Given the description of an element on the screen output the (x, y) to click on. 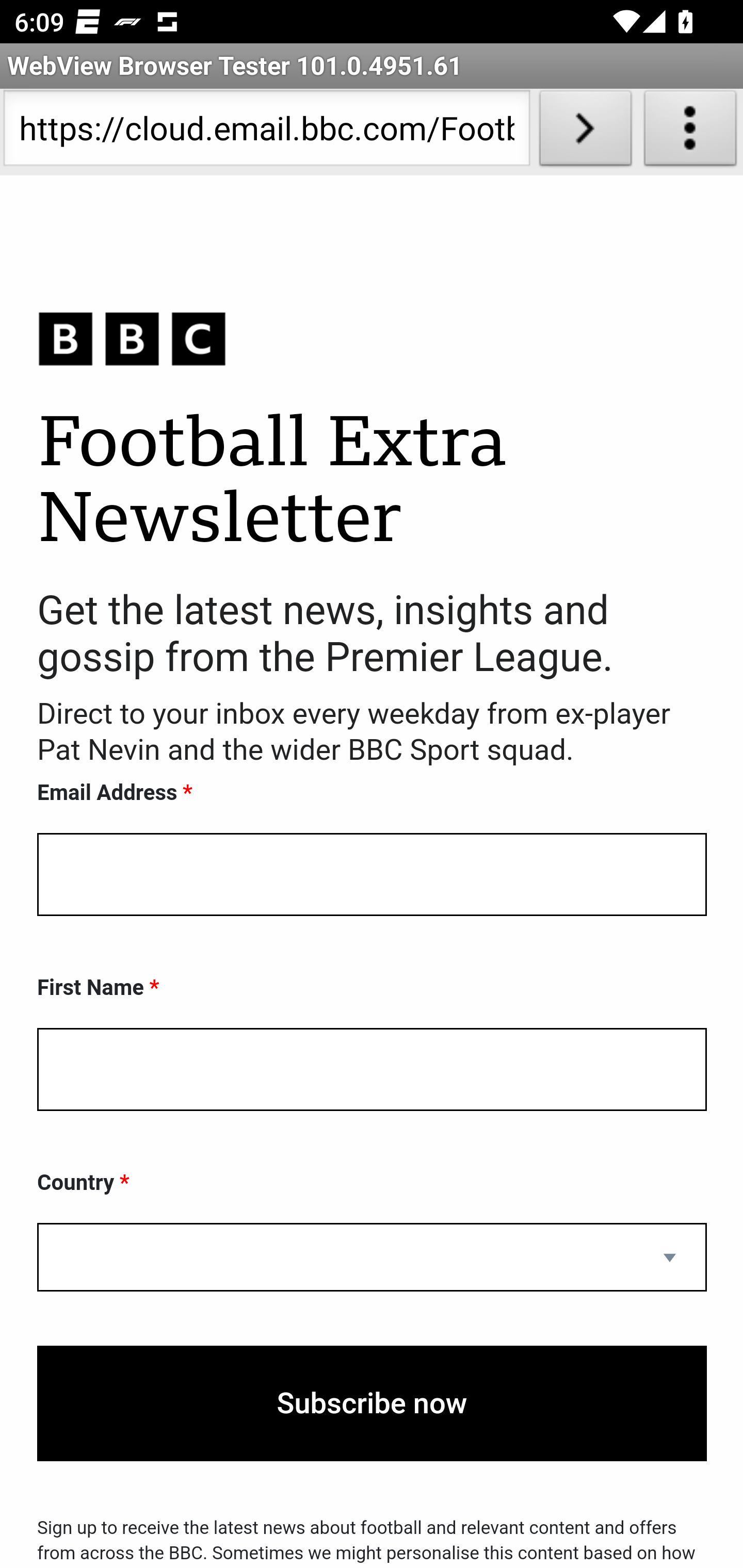
Load URL (585, 132)
About WebView (690, 132)
BBC (372, 338)
Subscribe now (372, 1403)
